Given the description of an element on the screen output the (x, y) to click on. 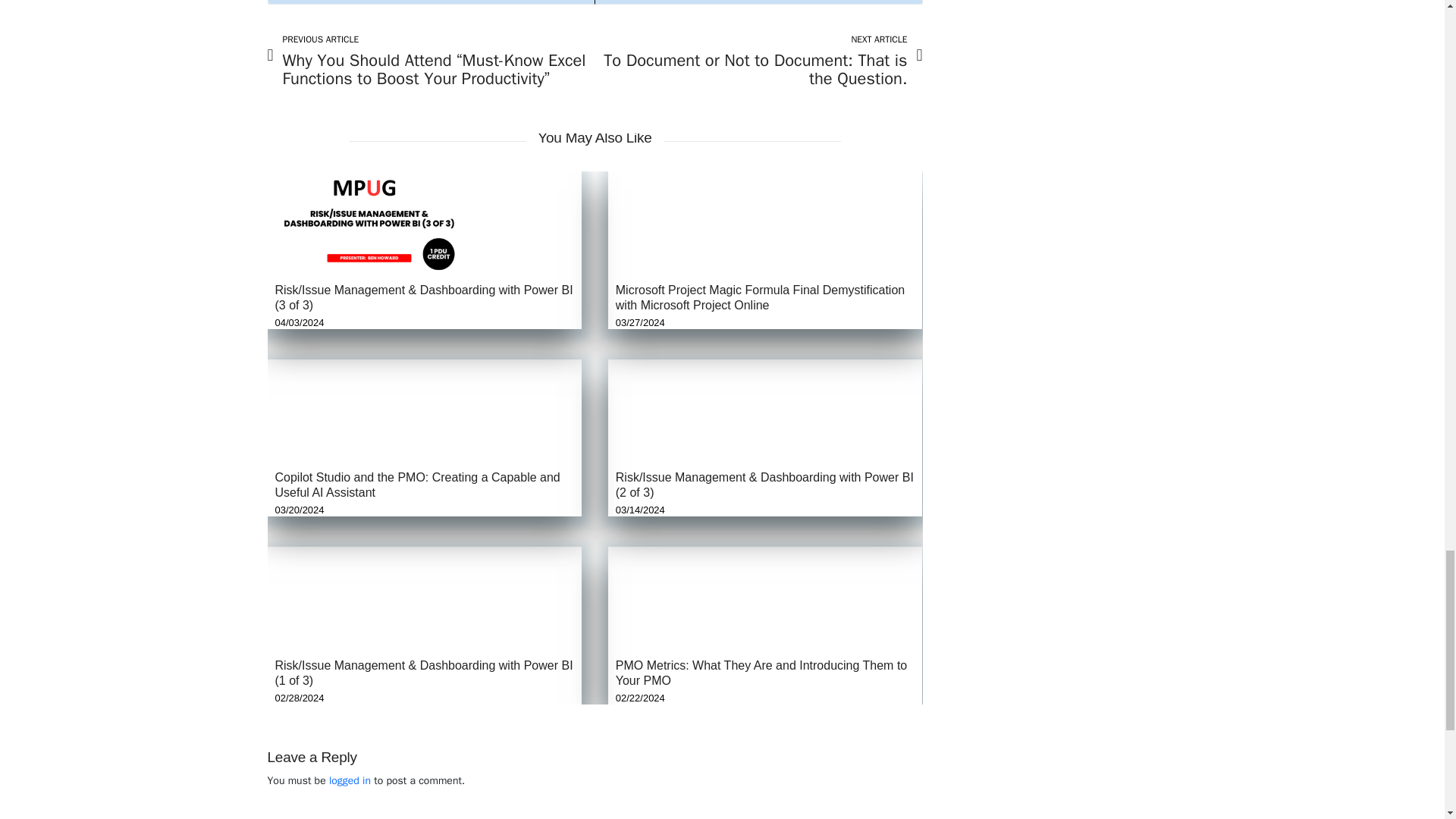
To Document or Not to Document: That is the Question. (761, 61)
